Given the description of an element on the screen output the (x, y) to click on. 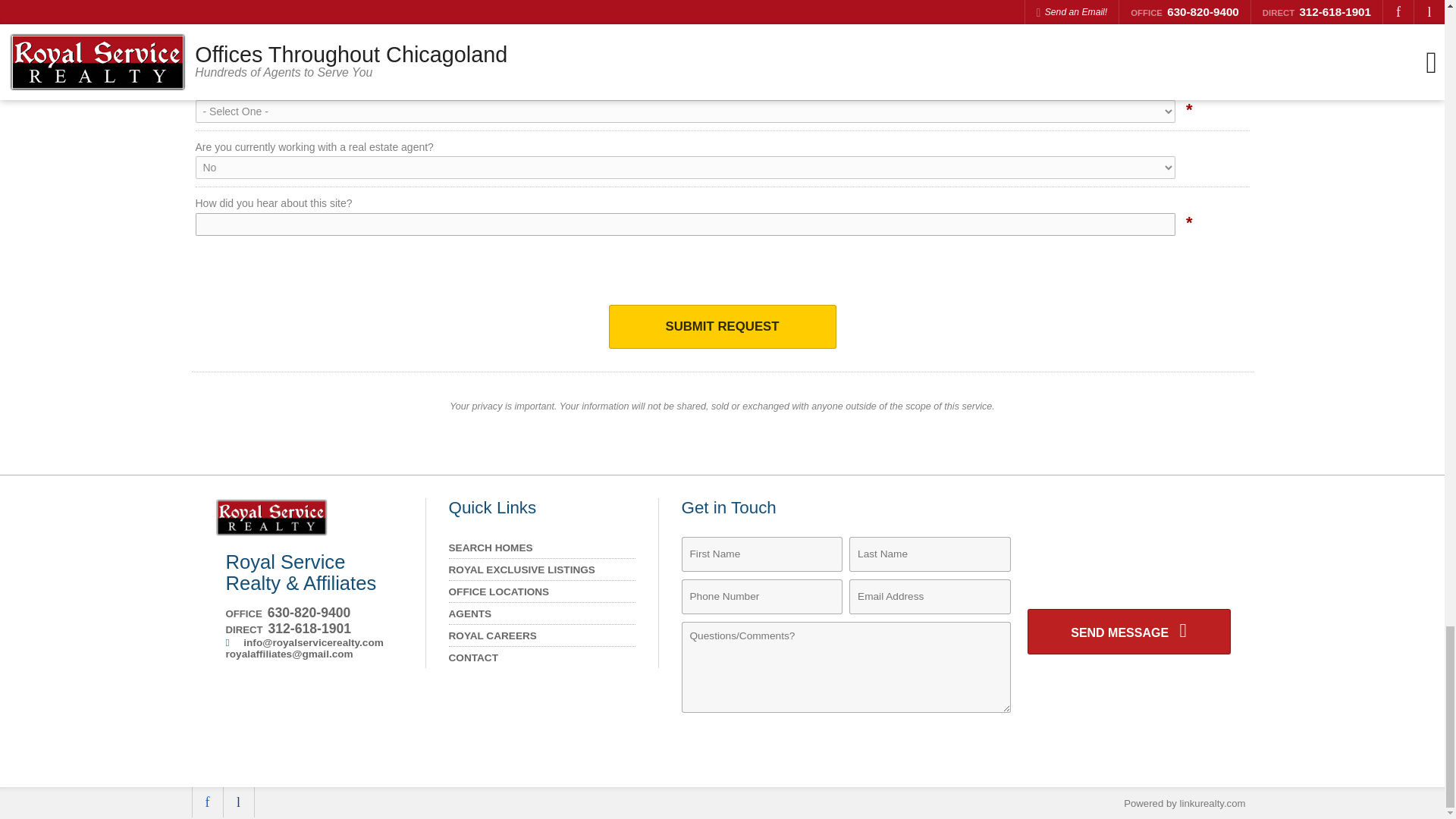
Powered by LinkURealty (1184, 803)
Facebook (206, 802)
LinkedIn (238, 802)
